Given the description of an element on the screen output the (x, y) to click on. 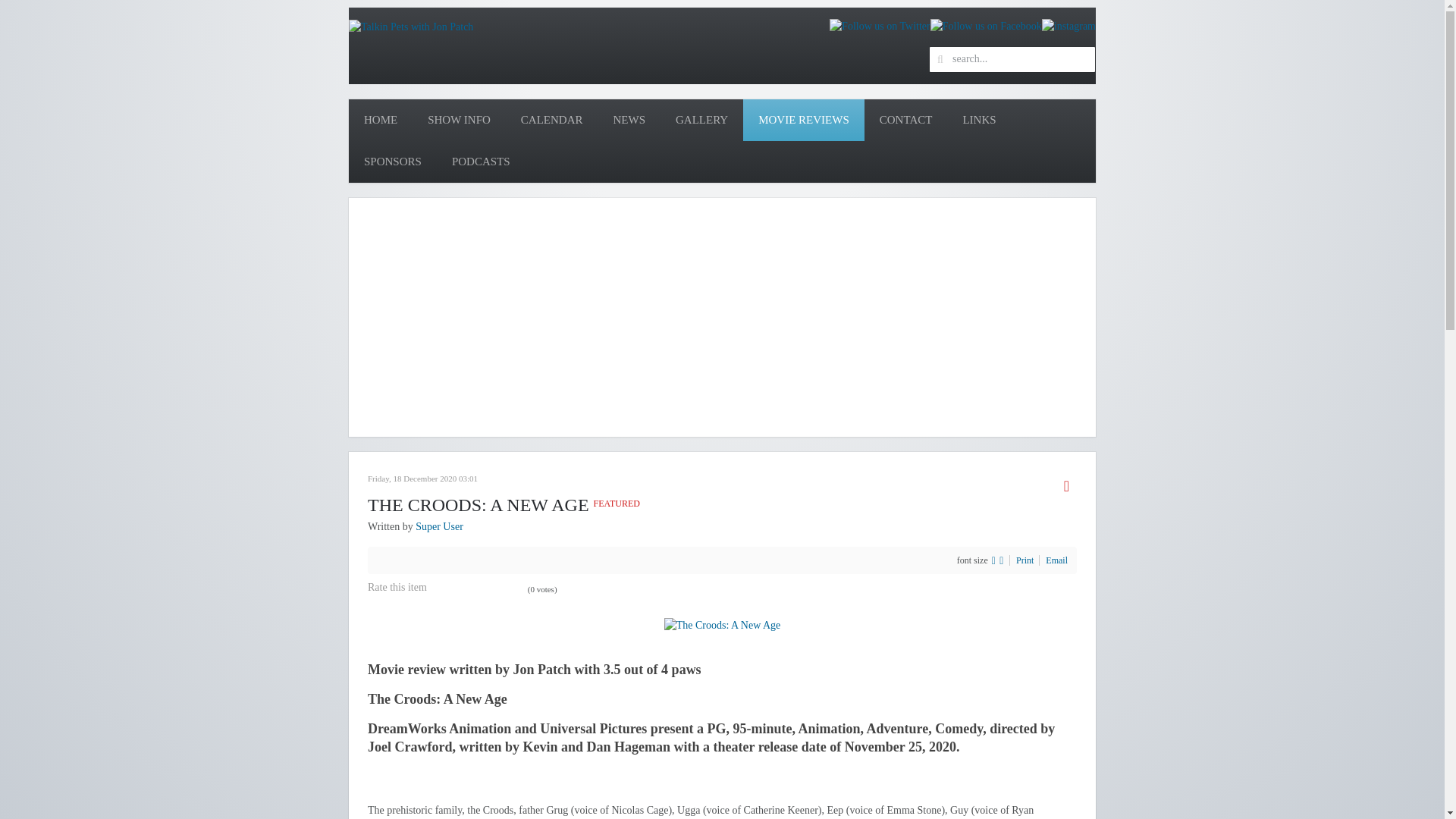
5 stars out of 5 (476, 588)
LINKS (978, 119)
Follow us on Twitter (879, 26)
Email (1056, 560)
2 (448, 588)
CALENDAR (551, 119)
NEWS (628, 119)
1 star out of 5 (438, 588)
PODCASTS (480, 161)
Click to preview image (721, 624)
